Given the description of an element on the screen output the (x, y) to click on. 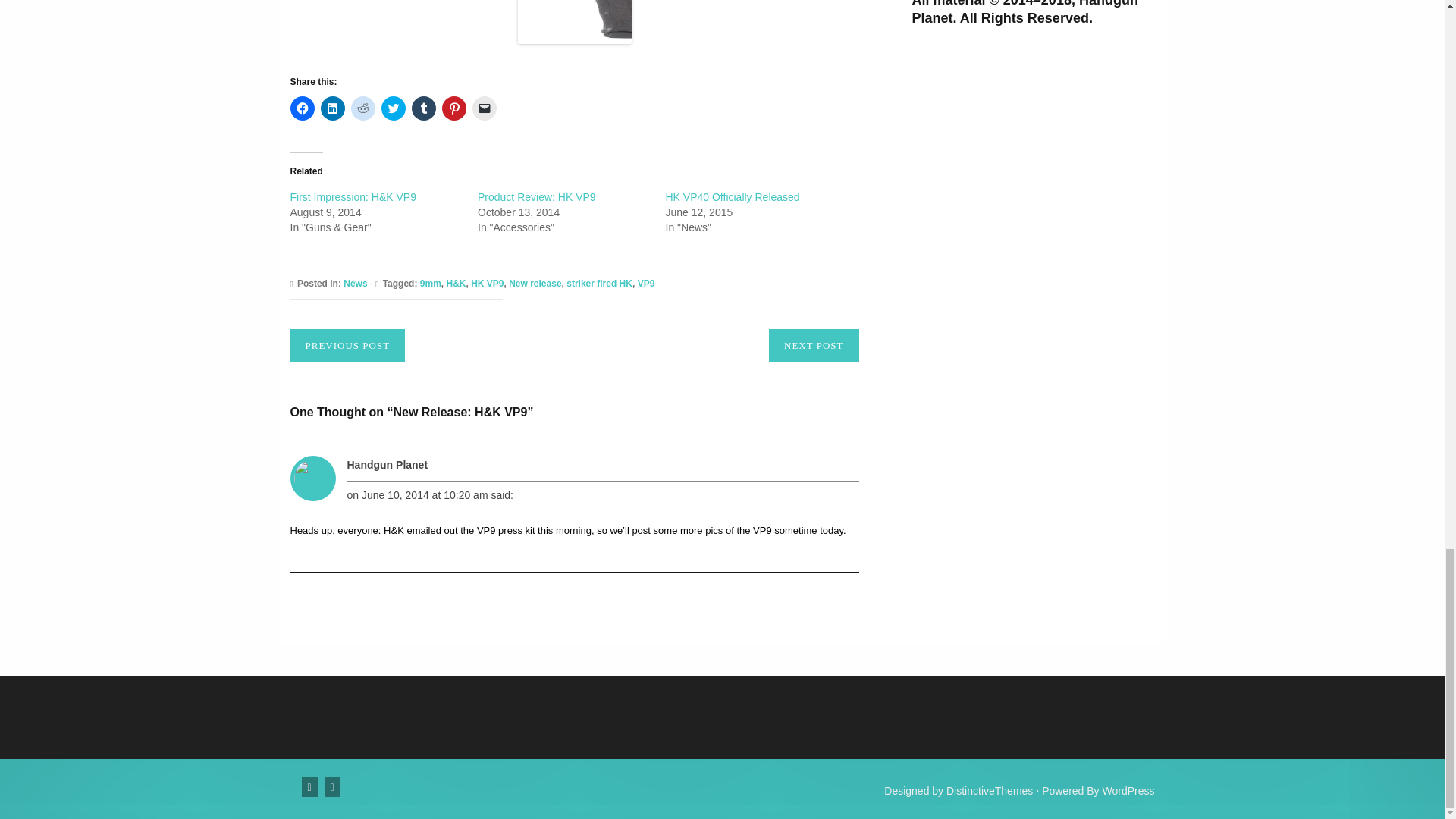
NEXT POST (813, 345)
Product Review: HK VP9 (536, 196)
VP9 (646, 283)
9mm (430, 283)
Click to share on LinkedIn (331, 108)
June 10, 2014 at 10:20 am (424, 494)
Click to share on Facebook (301, 108)
News (354, 283)
HK VP9 (486, 283)
PREVIOUS POST (346, 345)
